Given the description of an element on the screen output the (x, y) to click on. 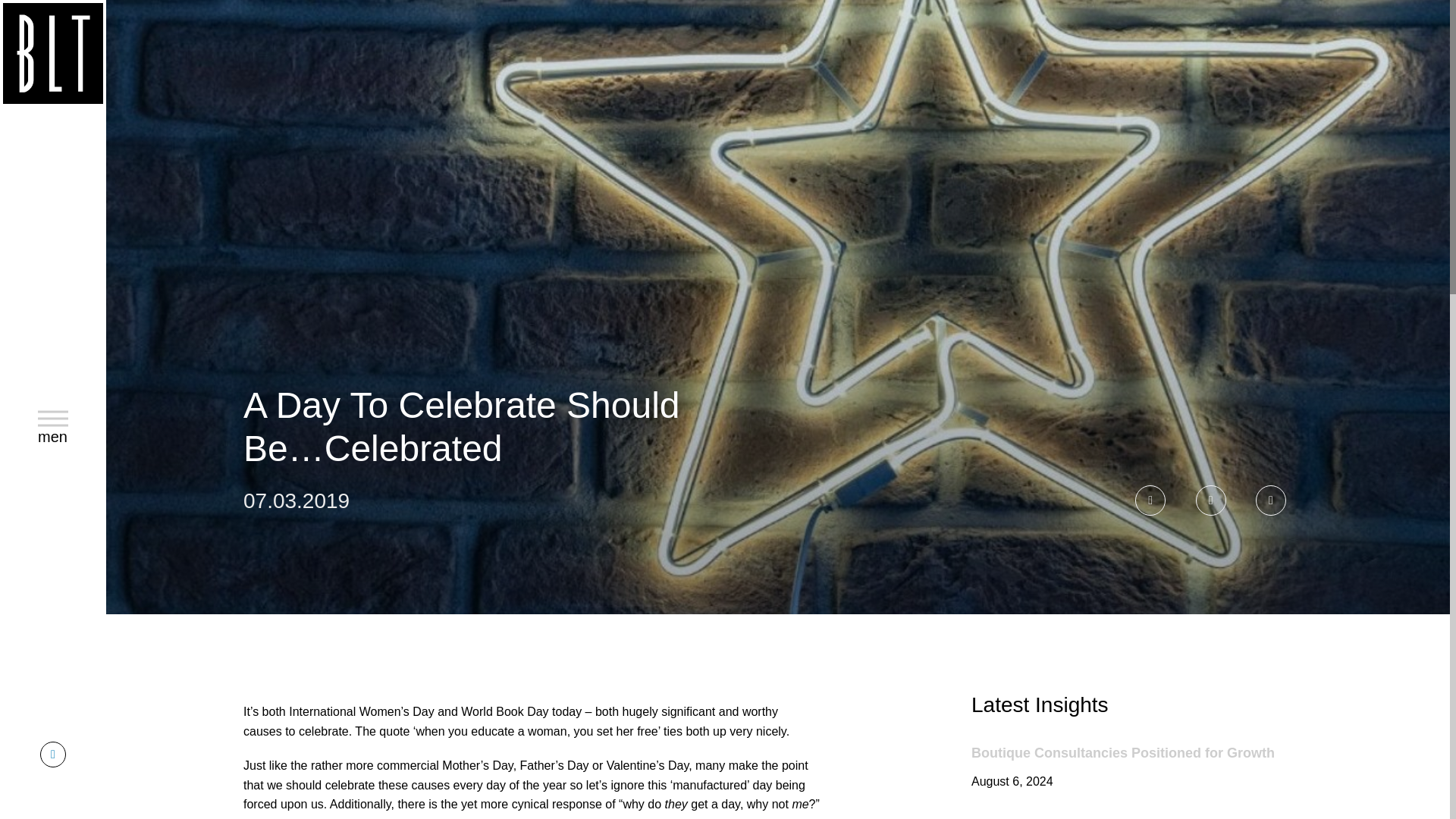
Share with LinkedIn (1210, 500)
Boutique Consultancies Positioned for Growth (1123, 753)
Beament Leslie Thomas (53, 56)
LinkedIn (52, 426)
Share with Twitter (52, 754)
Share with Facebook (1270, 500)
